Given the description of an element on the screen output the (x, y) to click on. 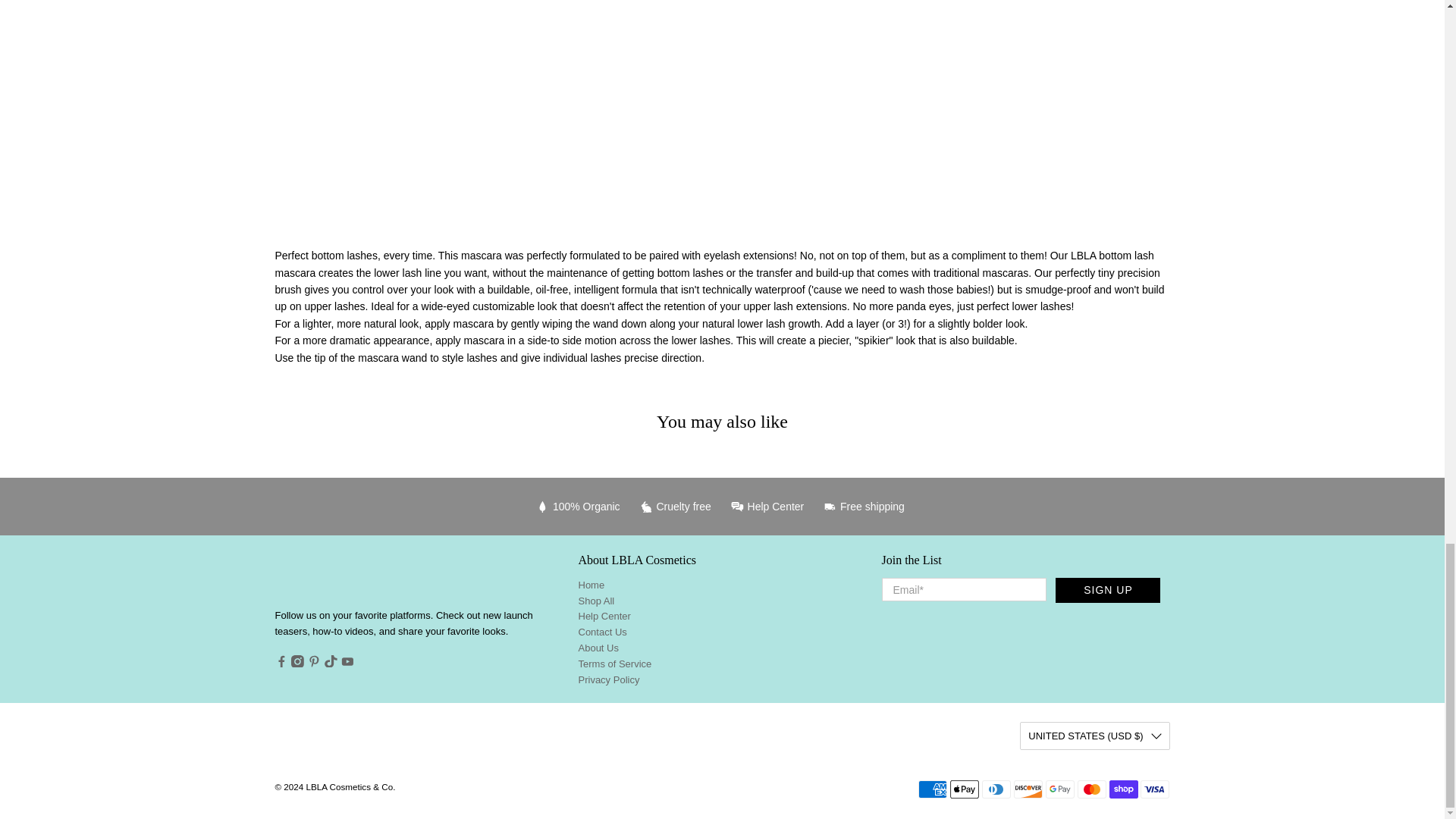
Discover (1027, 789)
Diners Club (995, 789)
American Express (932, 789)
Apple Pay (964, 789)
